Given the description of an element on the screen output the (x, y) to click on. 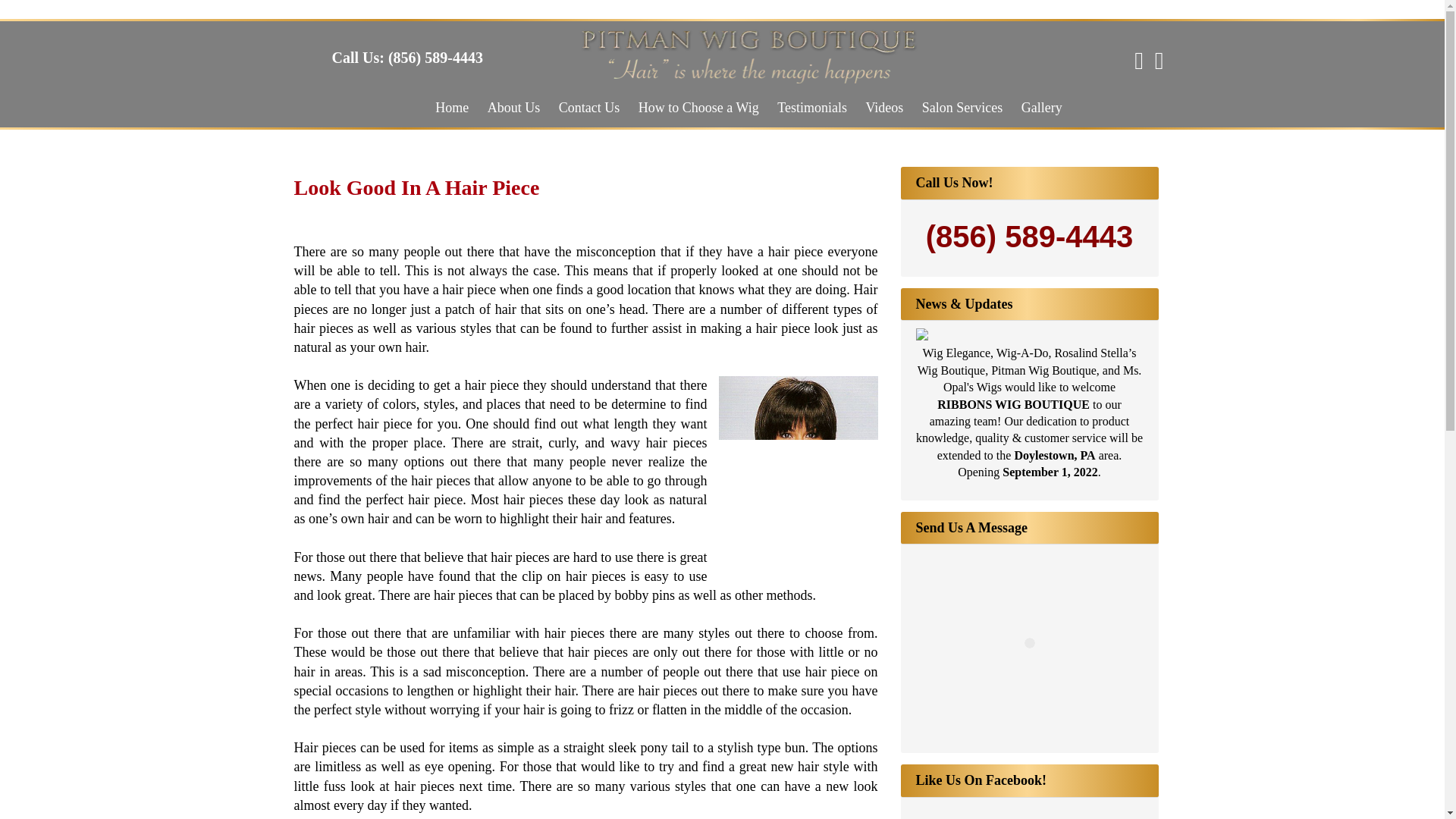
Salon Services (962, 107)
Videos (884, 107)
How to Choose a Wig (698, 107)
About Us (514, 107)
Pitman Wig Boutique (748, 78)
Testimonials (812, 107)
Home (452, 107)
Contact Us (589, 107)
